Given the description of an element on the screen output the (x, y) to click on. 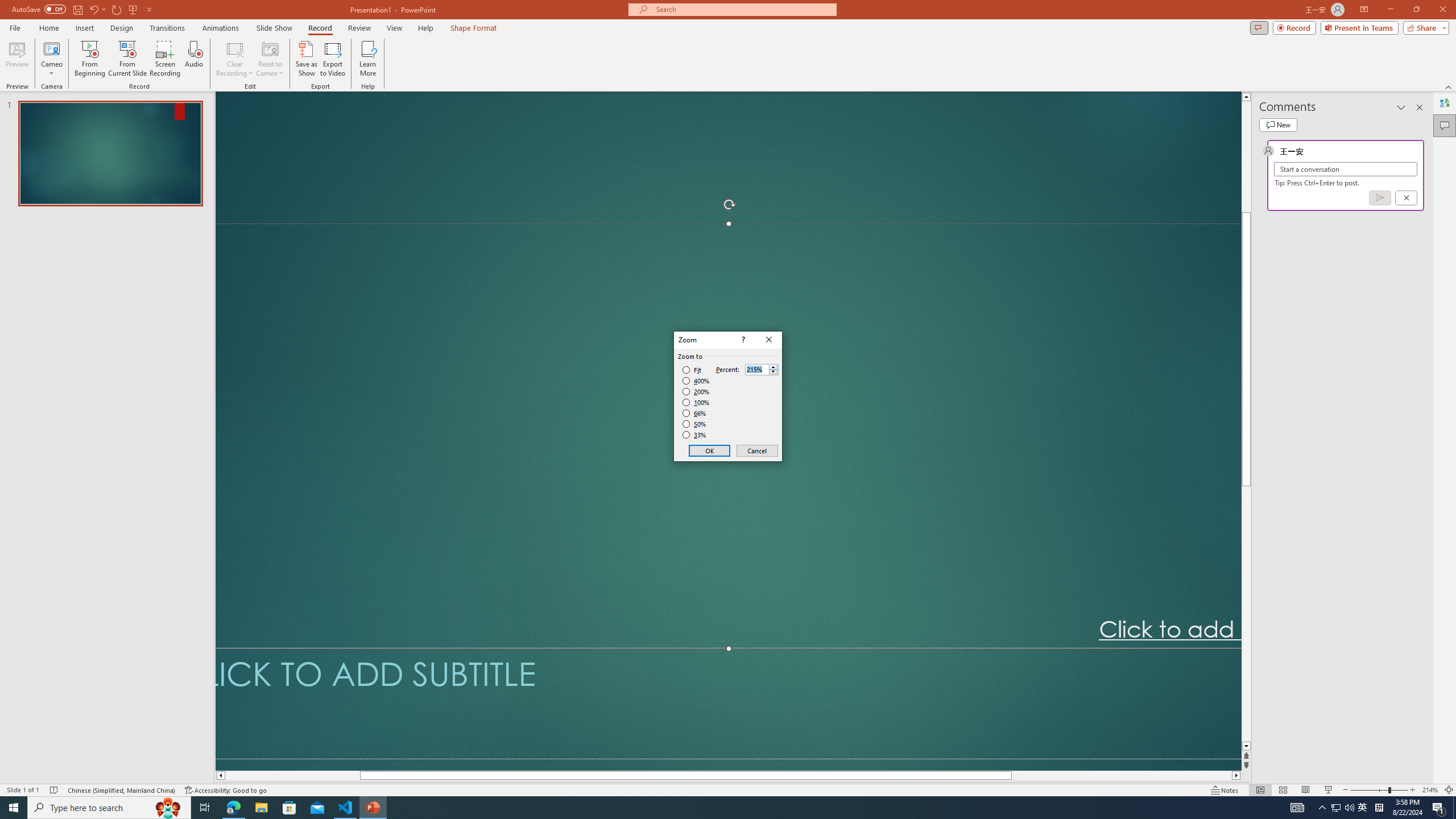
Fit (691, 370)
66% (694, 412)
Percent (761, 369)
Screen Recording (165, 58)
